Given the description of an element on the screen output the (x, y) to click on. 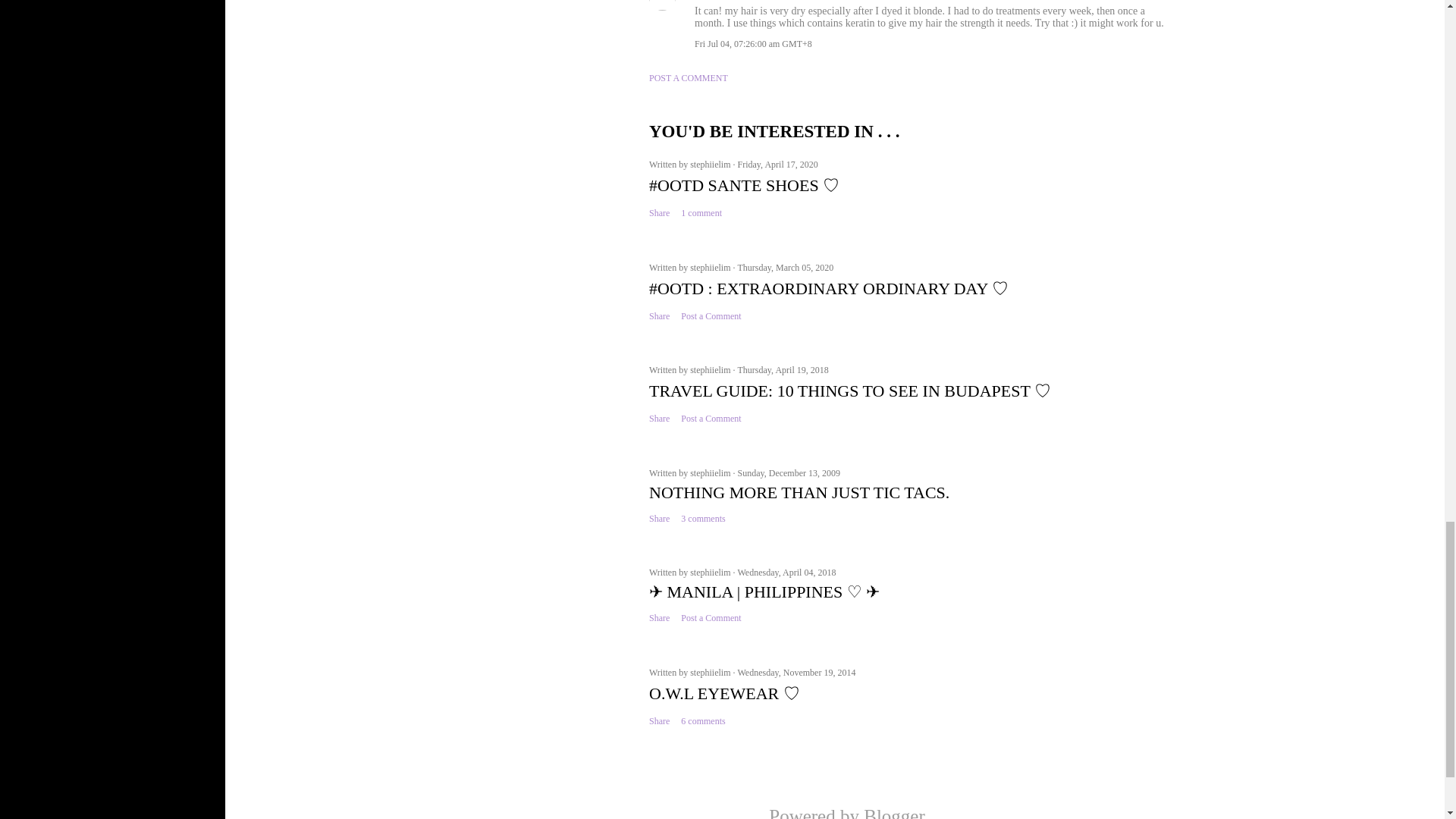
POST A COMMENT (688, 77)
Share (659, 213)
stephiielim (711, 163)
Friday, April 17, 2020 (776, 163)
